Given the description of an element on the screen output the (x, y) to click on. 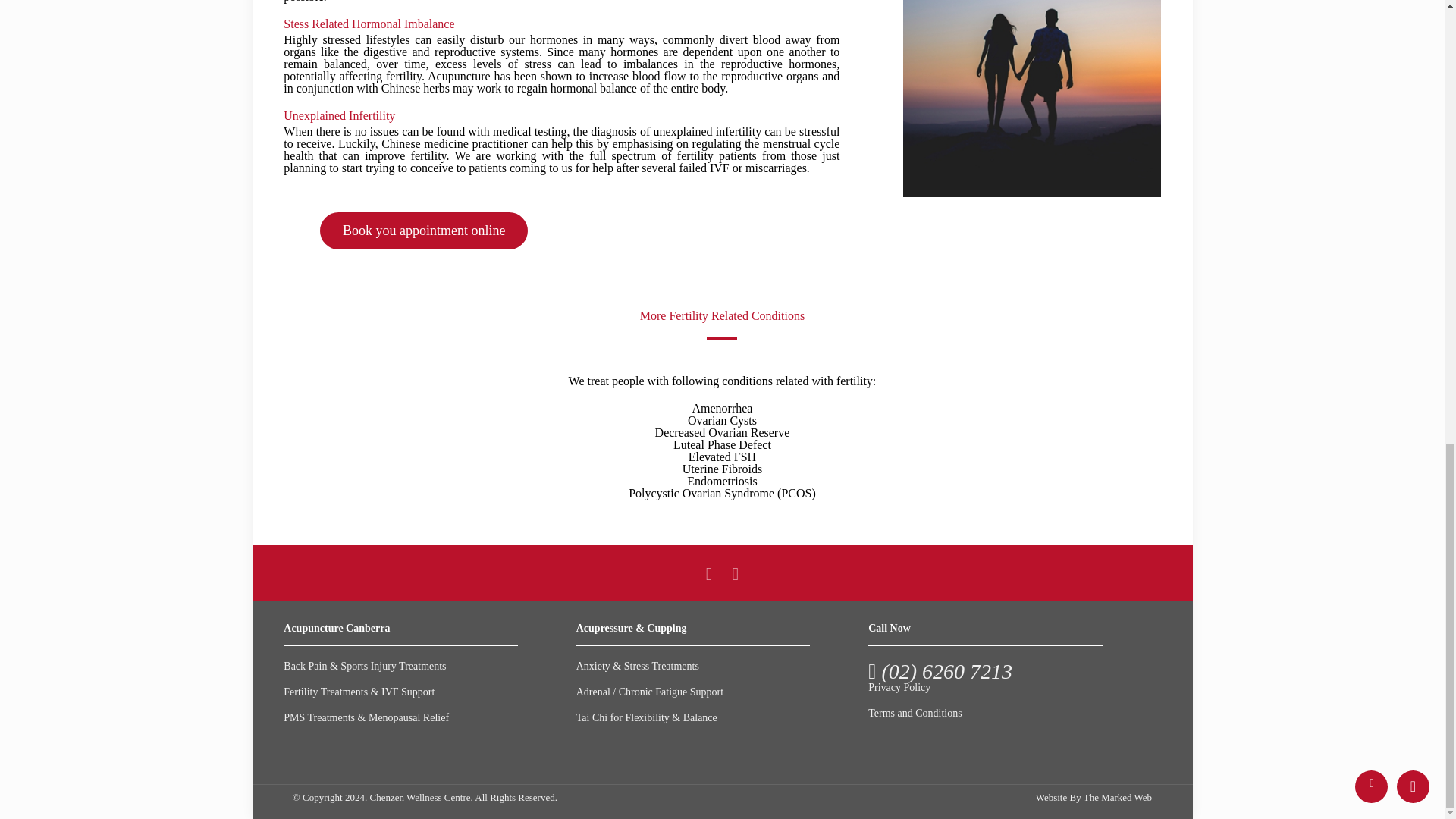
Acupuncture Canberra (336, 627)
Book you appointment online (423, 233)
Privacy Policy (898, 686)
